Given the description of an element on the screen output the (x, y) to click on. 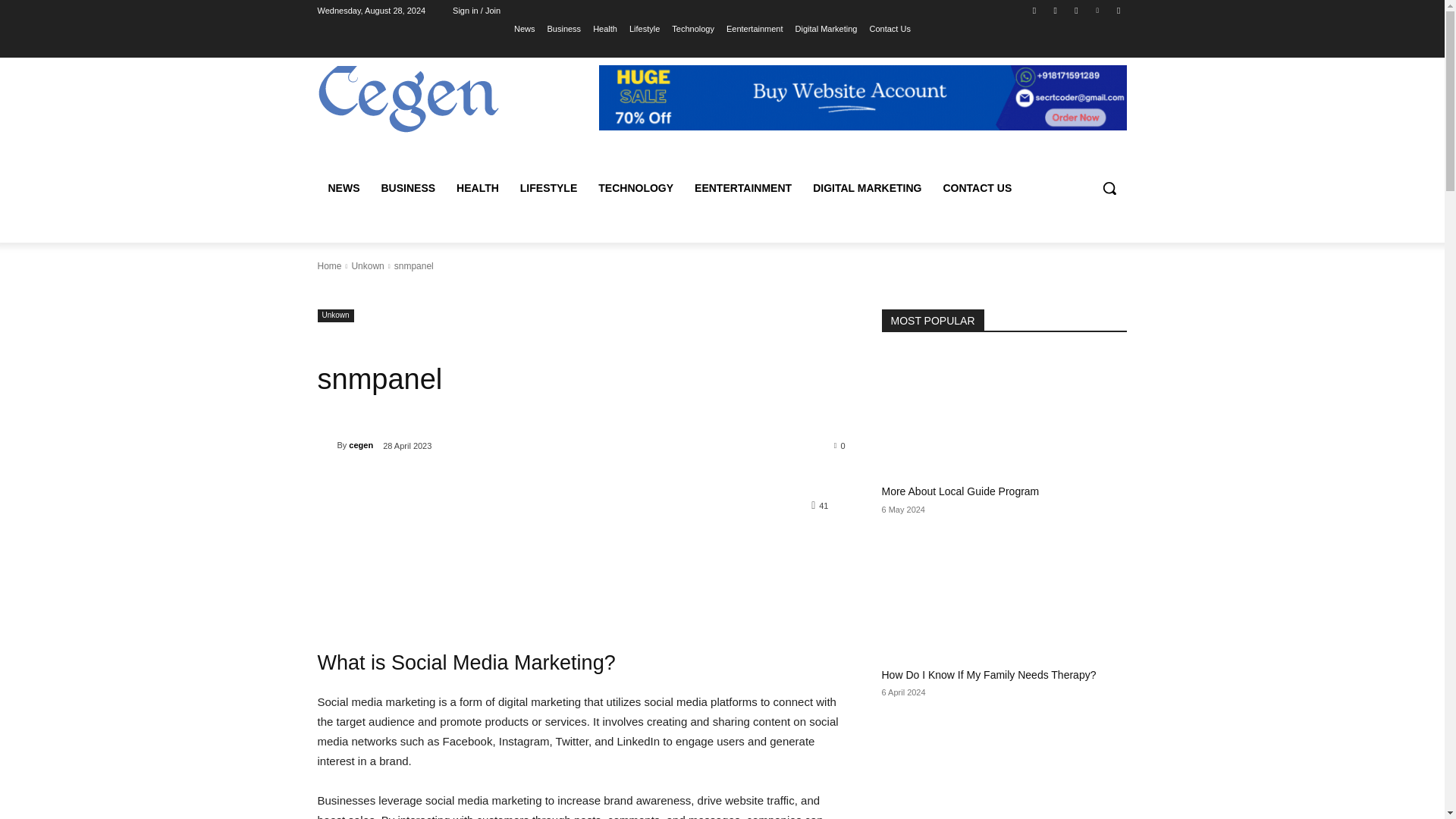
Technology (692, 28)
NEWS (343, 187)
BUSINESS (407, 187)
HEALTH (477, 187)
Health (604, 28)
LIFESTYLE (548, 187)
Instagram (1055, 9)
Vimeo (1097, 9)
cegen (326, 444)
View all posts in Unkown (367, 266)
